Given the description of an element on the screen output the (x, y) to click on. 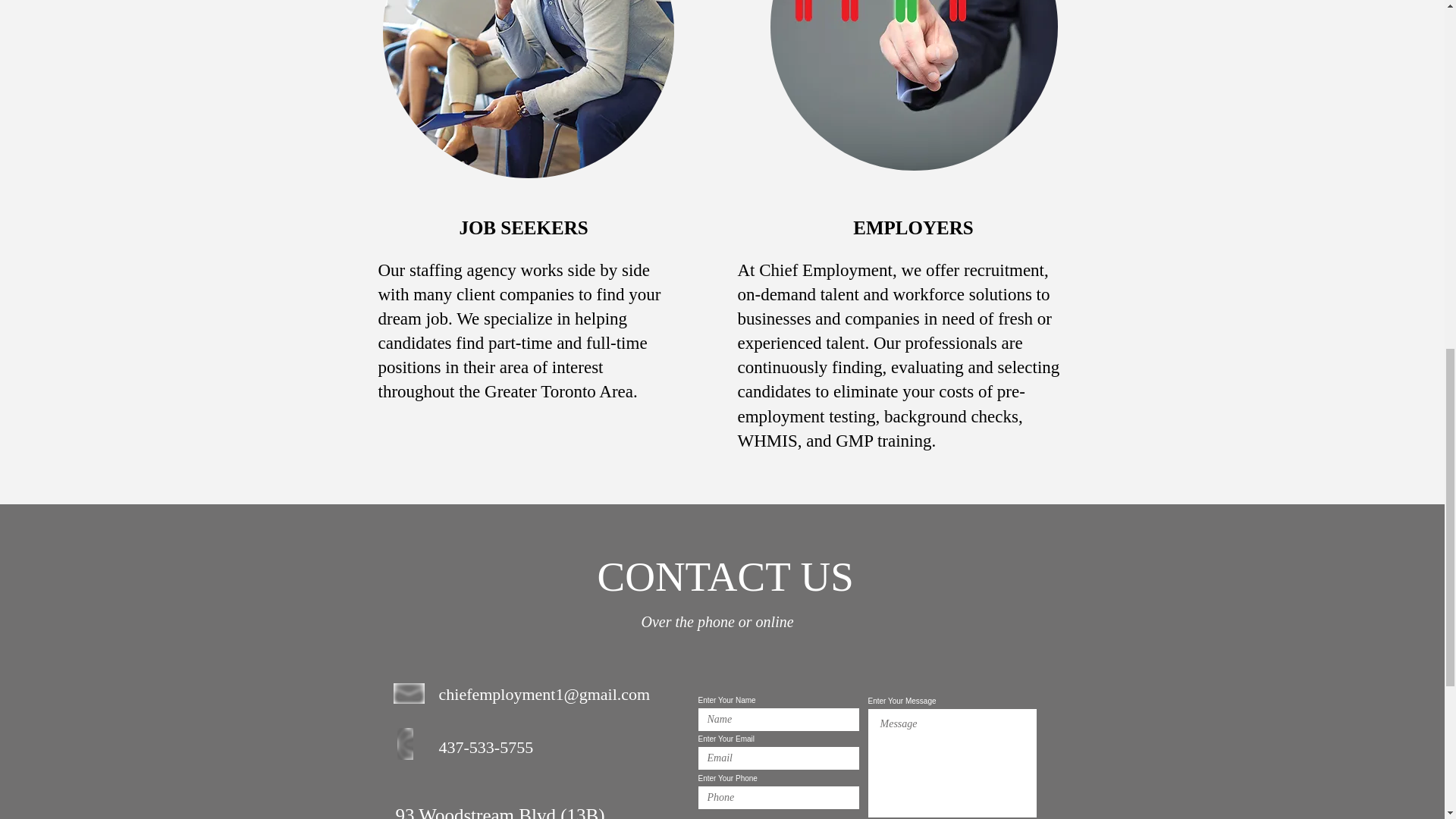
mail.png (409, 692)
phone.png (405, 744)
